Given the description of an element on the screen output the (x, y) to click on. 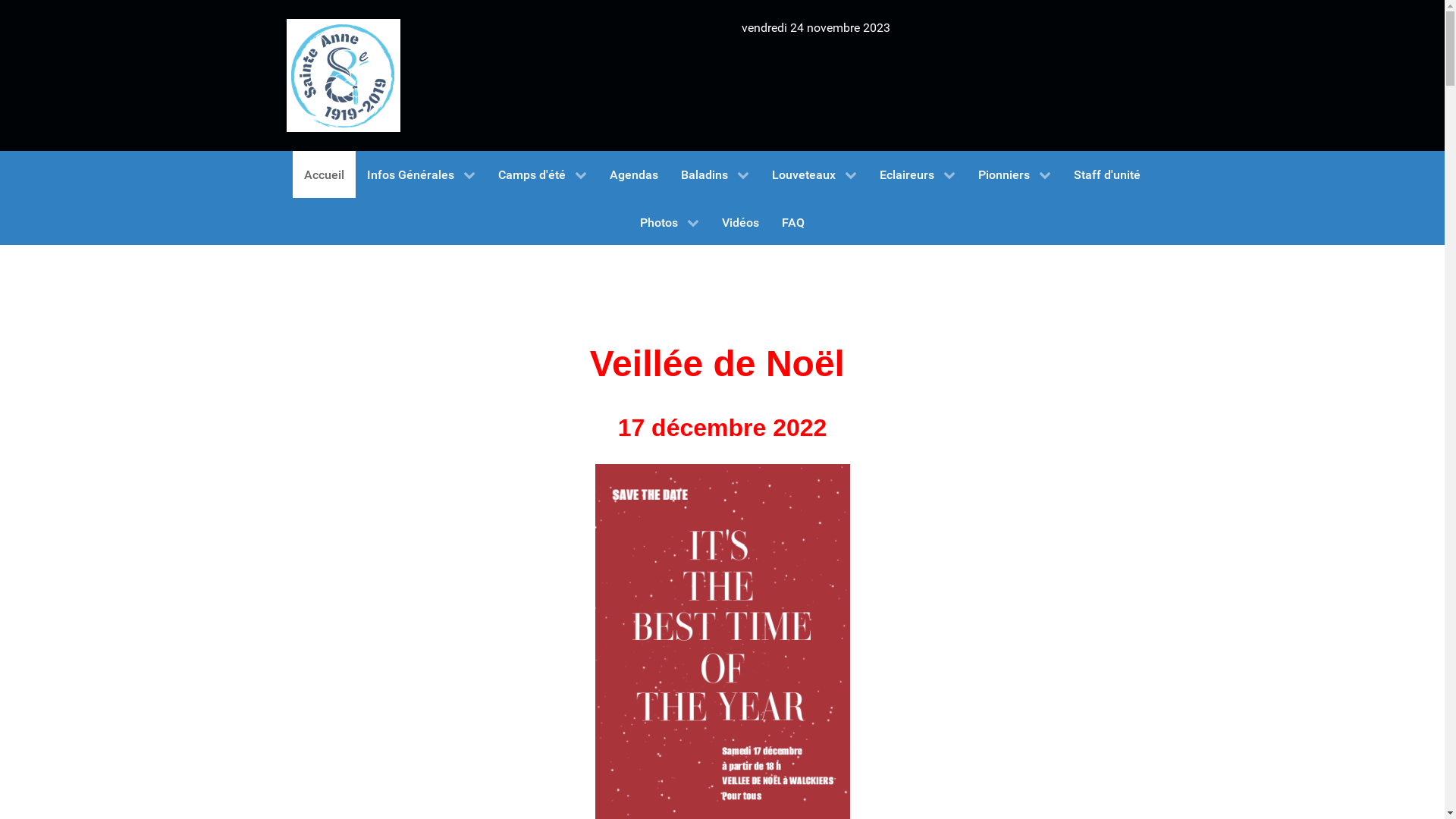
FAQ Element type: text (792, 220)
Agendas Element type: text (633, 173)
Gantry 5 Element type: hover (343, 74)
Accueil Element type: text (323, 173)
